Given the description of an element on the screen output the (x, y) to click on. 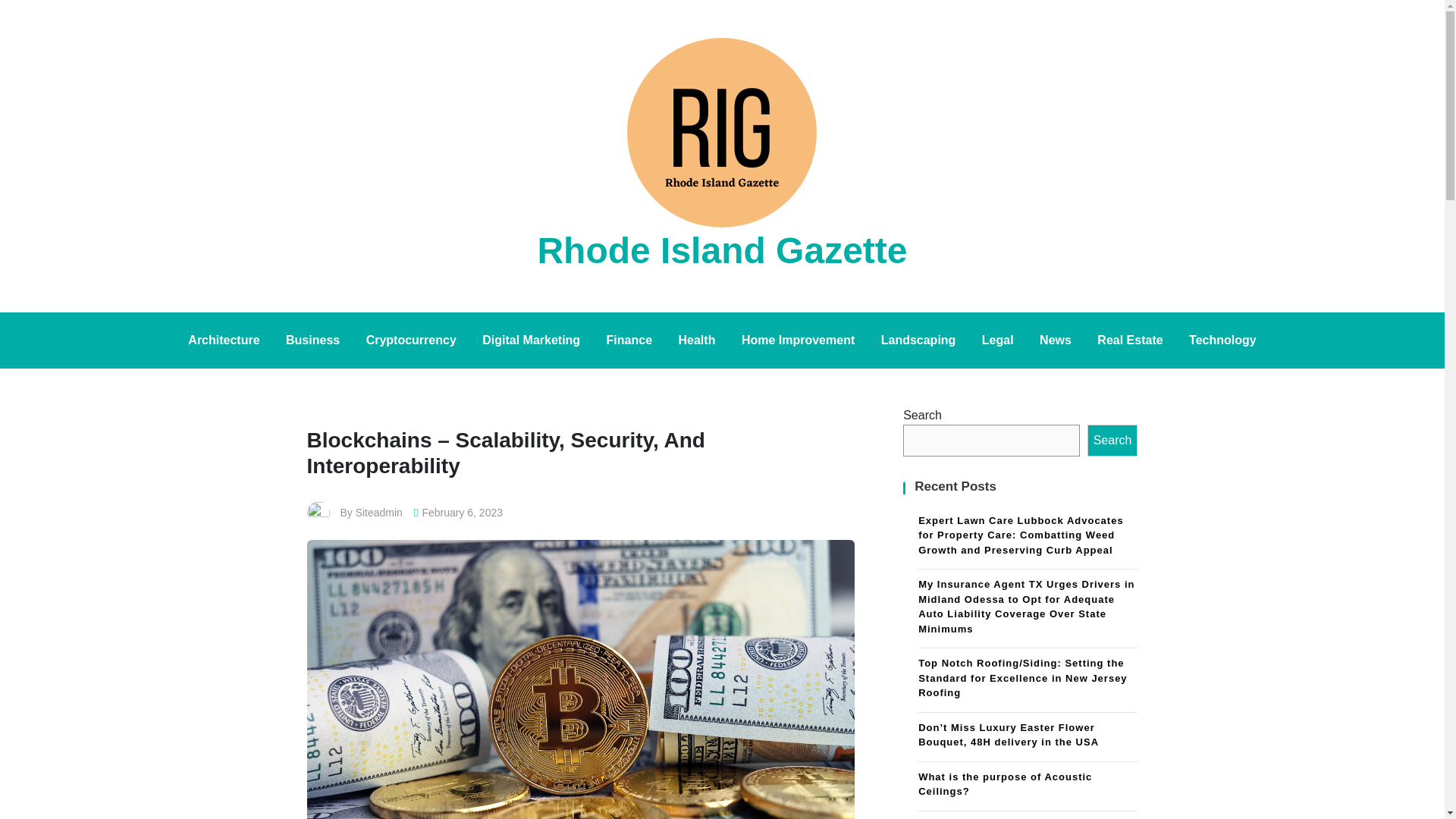
Health (696, 340)
Landscaping (918, 340)
Home Improvement (798, 340)
February 6, 2023 (462, 512)
Technology (1222, 340)
Digital Marketing (530, 340)
Cryptocurrency (411, 340)
Legal (998, 340)
Architecture (223, 340)
News (1055, 340)
Business (312, 340)
Search (1112, 440)
Siteadmin (379, 512)
